Given the description of an element on the screen output the (x, y) to click on. 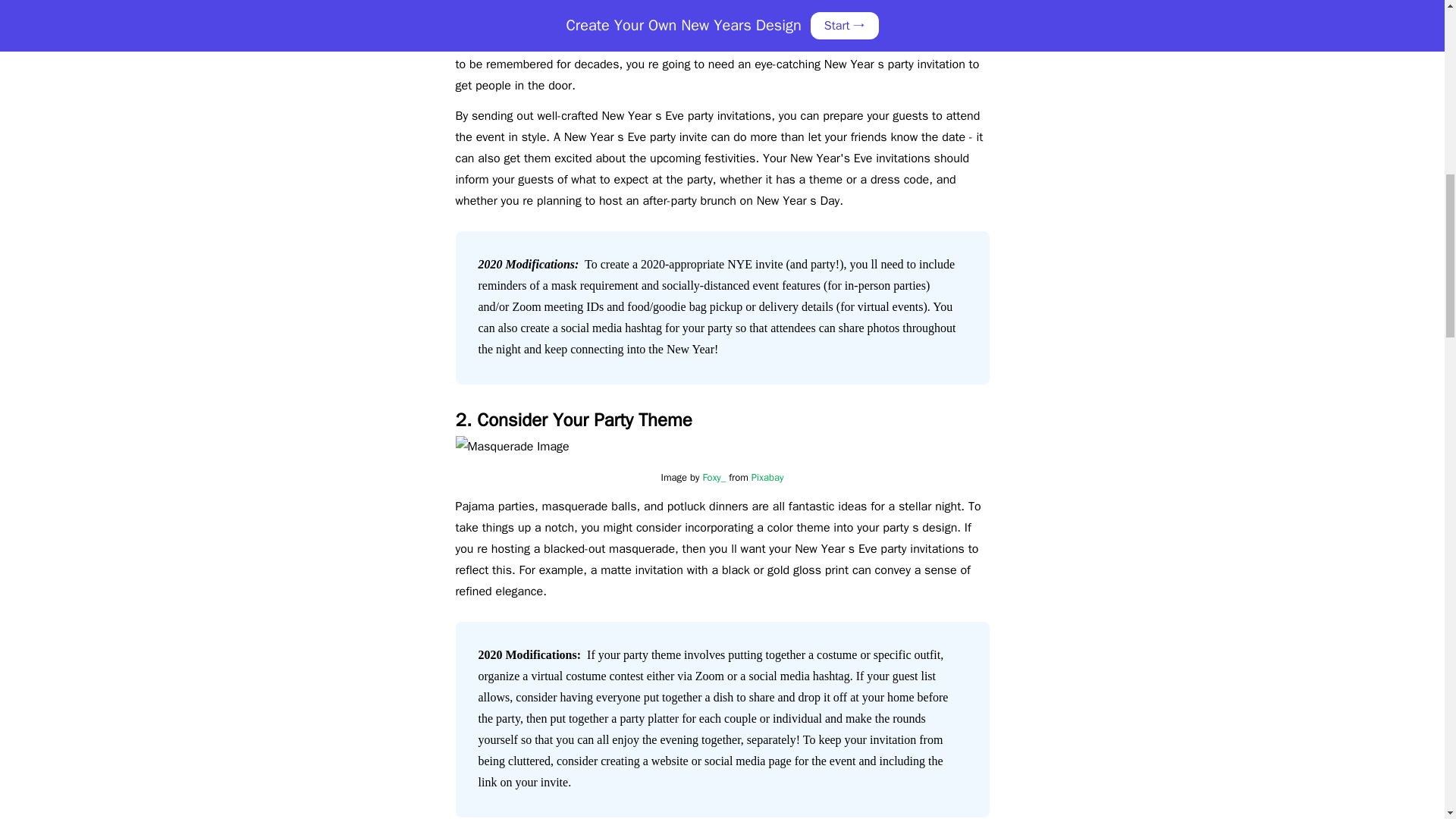
5598375 (714, 13)
Pixabay (767, 477)
Pixabay (776, 13)
